Given the description of an element on the screen output the (x, y) to click on. 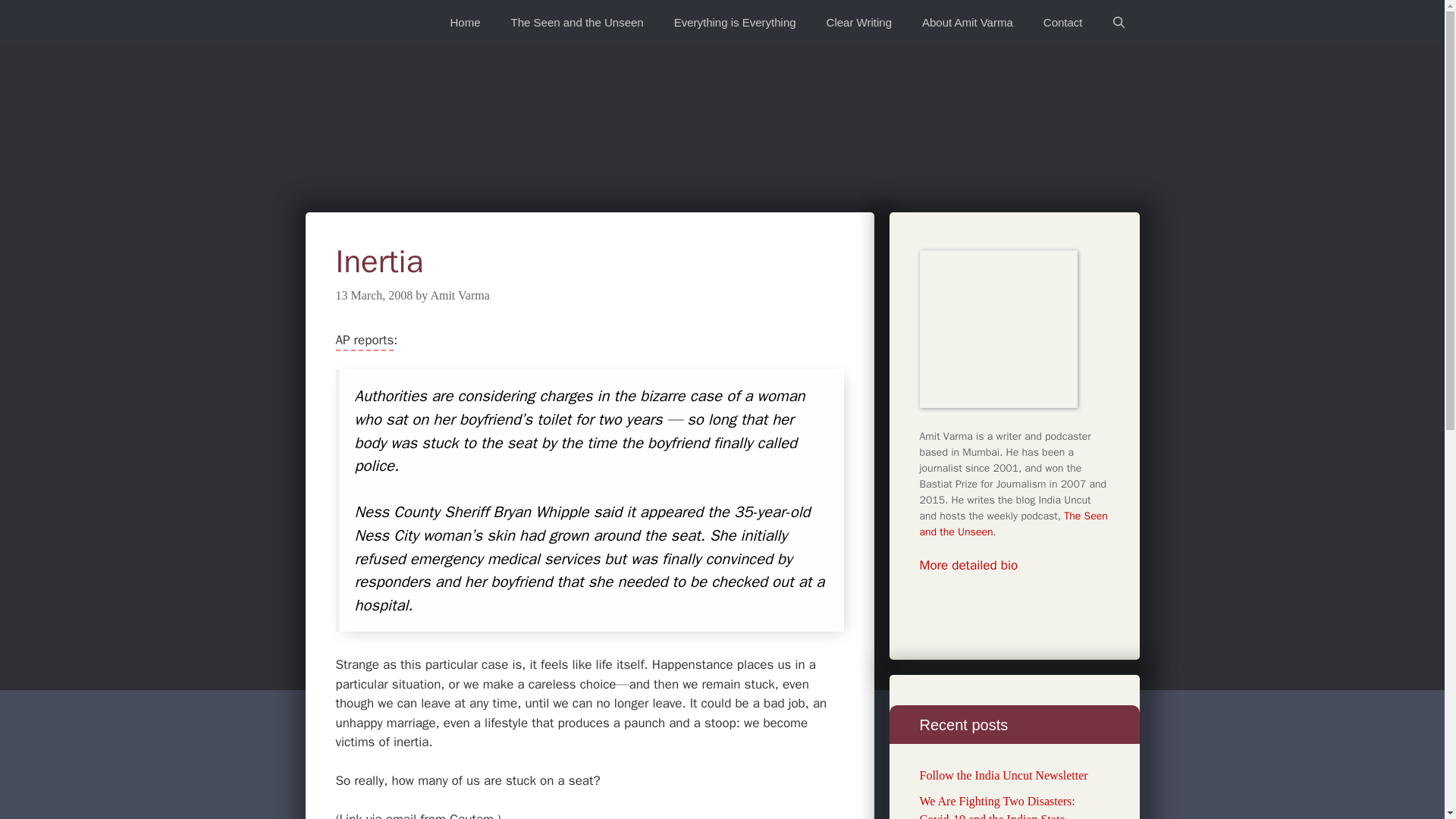
Gautam John (471, 815)
Everything is Everything (734, 22)
The Seen and the Unseen (577, 22)
Clear Writing (858, 22)
Gautam (471, 815)
AP reports (363, 341)
Contact (1062, 22)
More detailed bio (967, 565)
We Are Fighting Two Disasters: Covid-19 and the Indian State (996, 806)
Home (465, 22)
